Given the description of an element on the screen output the (x, y) to click on. 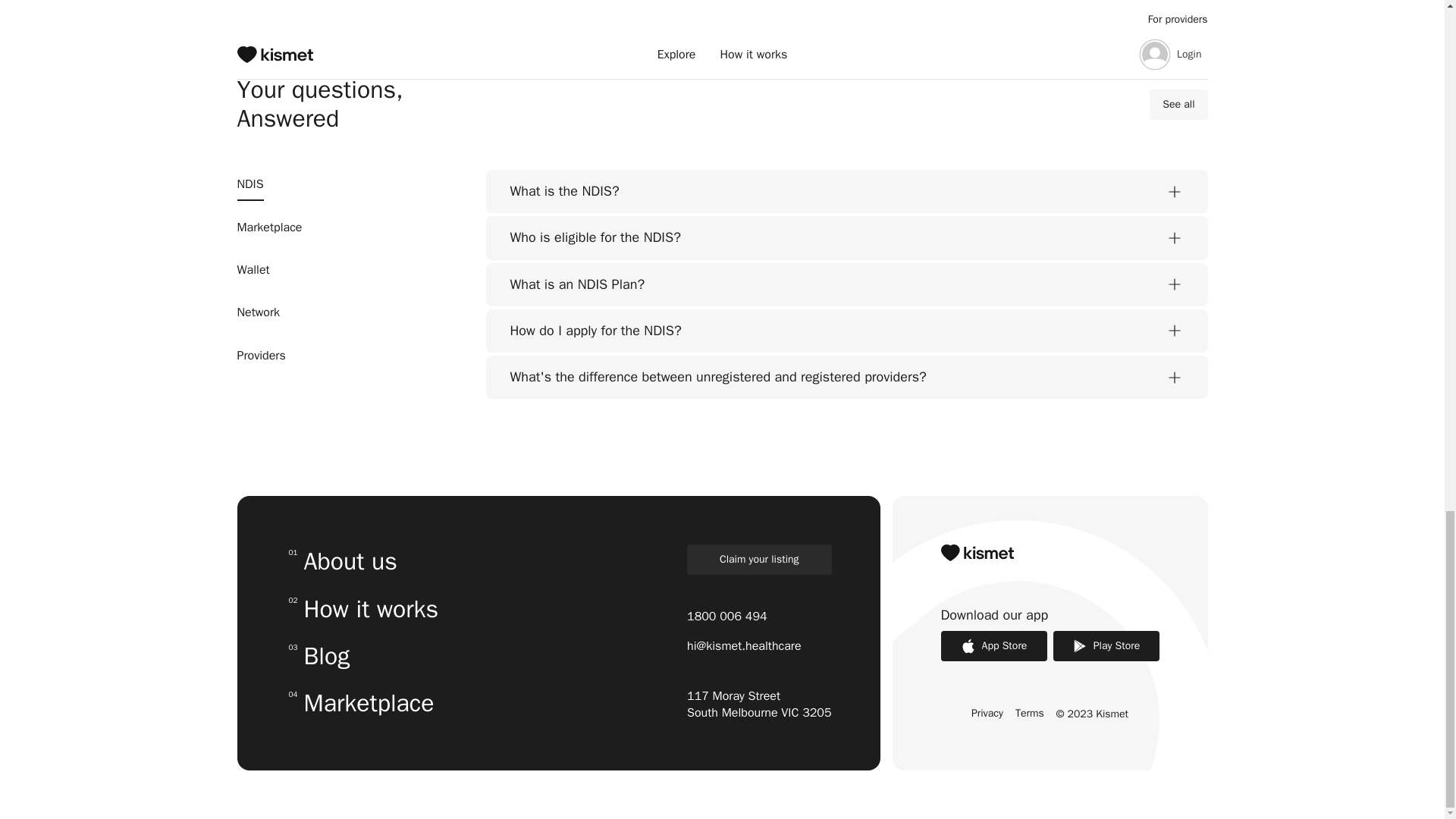
Marketplace (268, 227)
Who is eligible for the NDIS? (363, 609)
How do I apply for the NDIS? (845, 237)
Wallet (845, 330)
See all (252, 270)
